Given the description of an element on the screen output the (x, y) to click on. 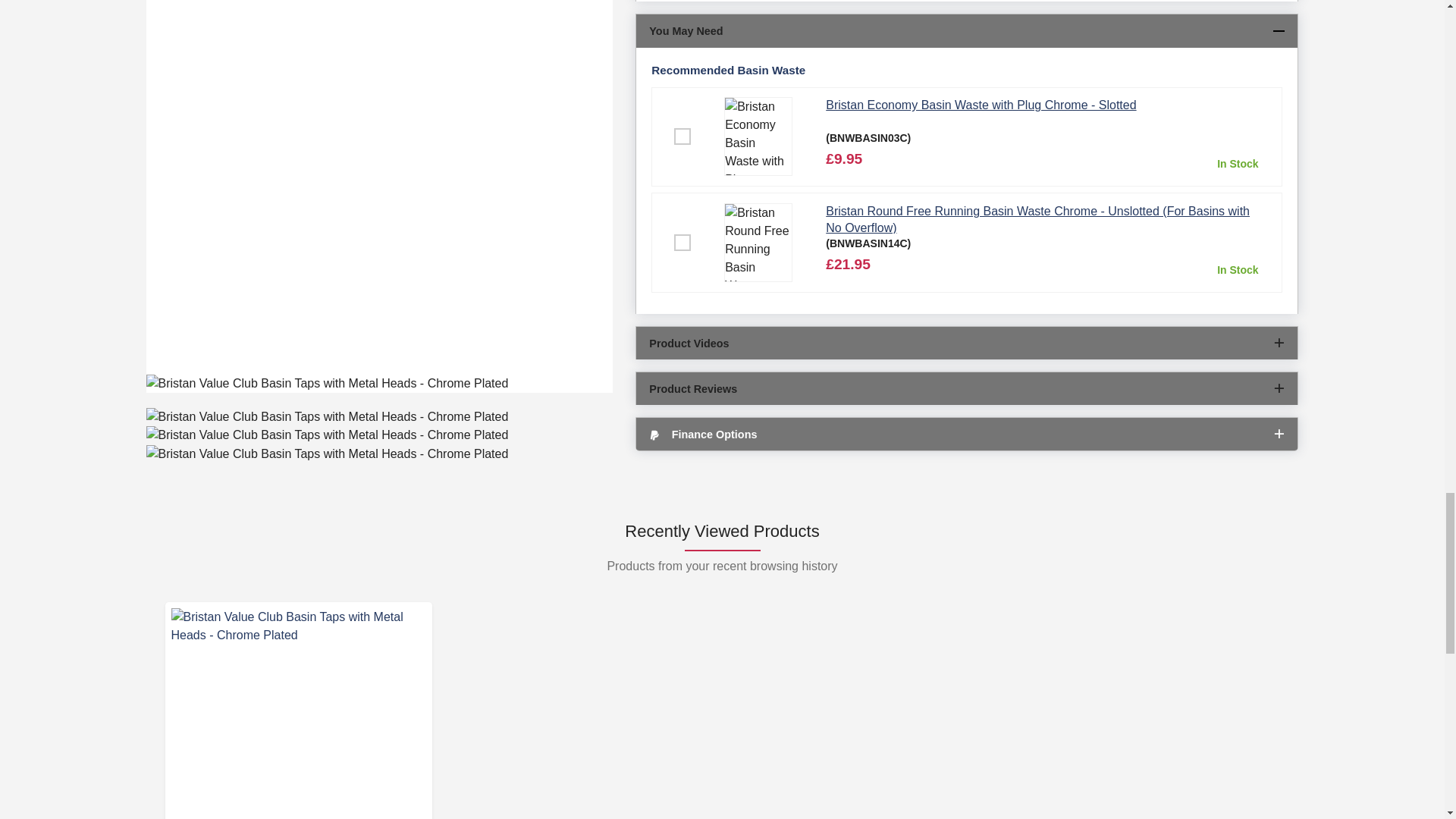
Bristan Economy Basin Waste with Plug Chrome - Slotted (763, 136)
